Given the description of an element on the screen output the (x, y) to click on. 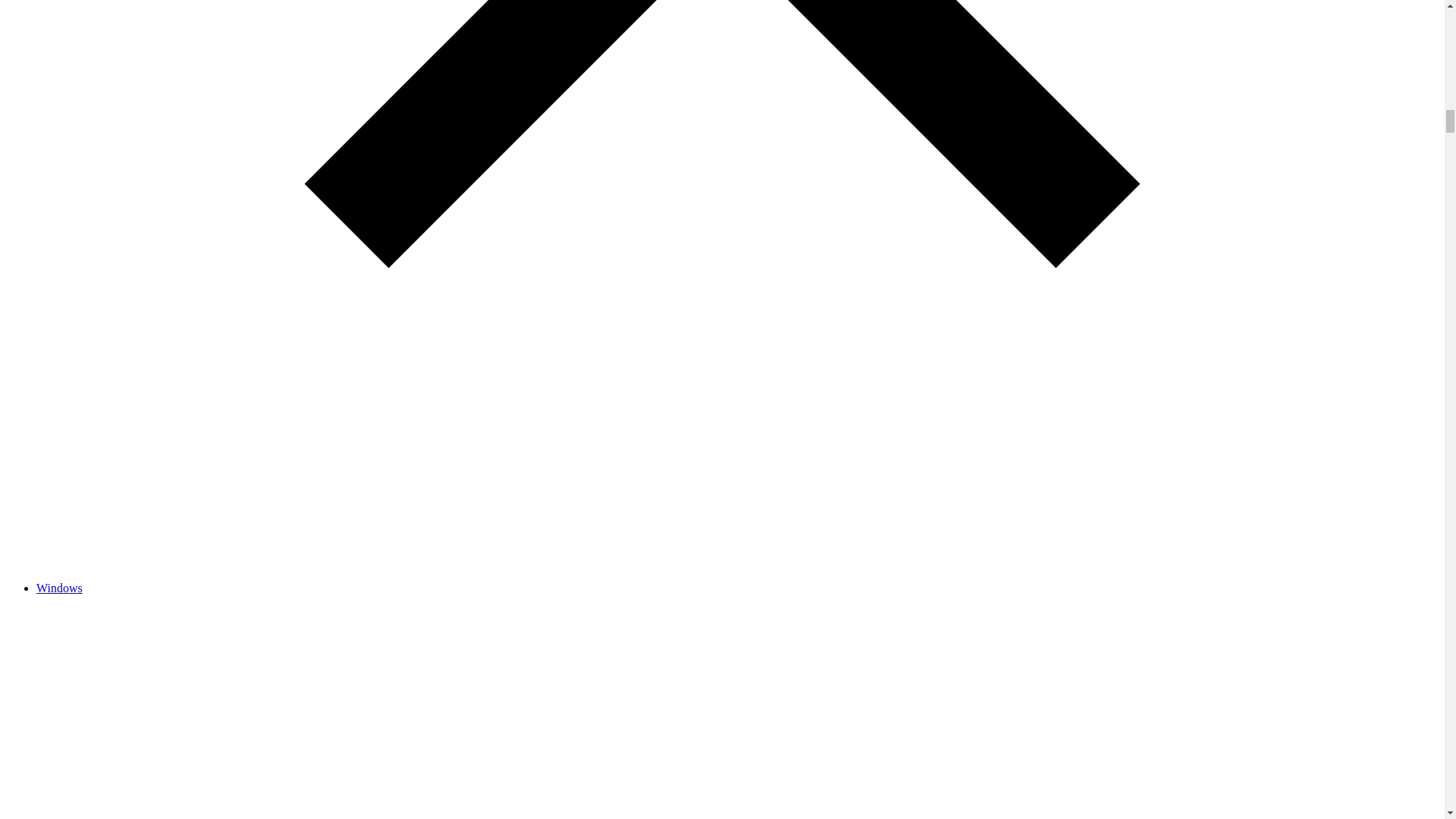
Windows (59, 587)
